Given the description of an element on the screen output the (x, y) to click on. 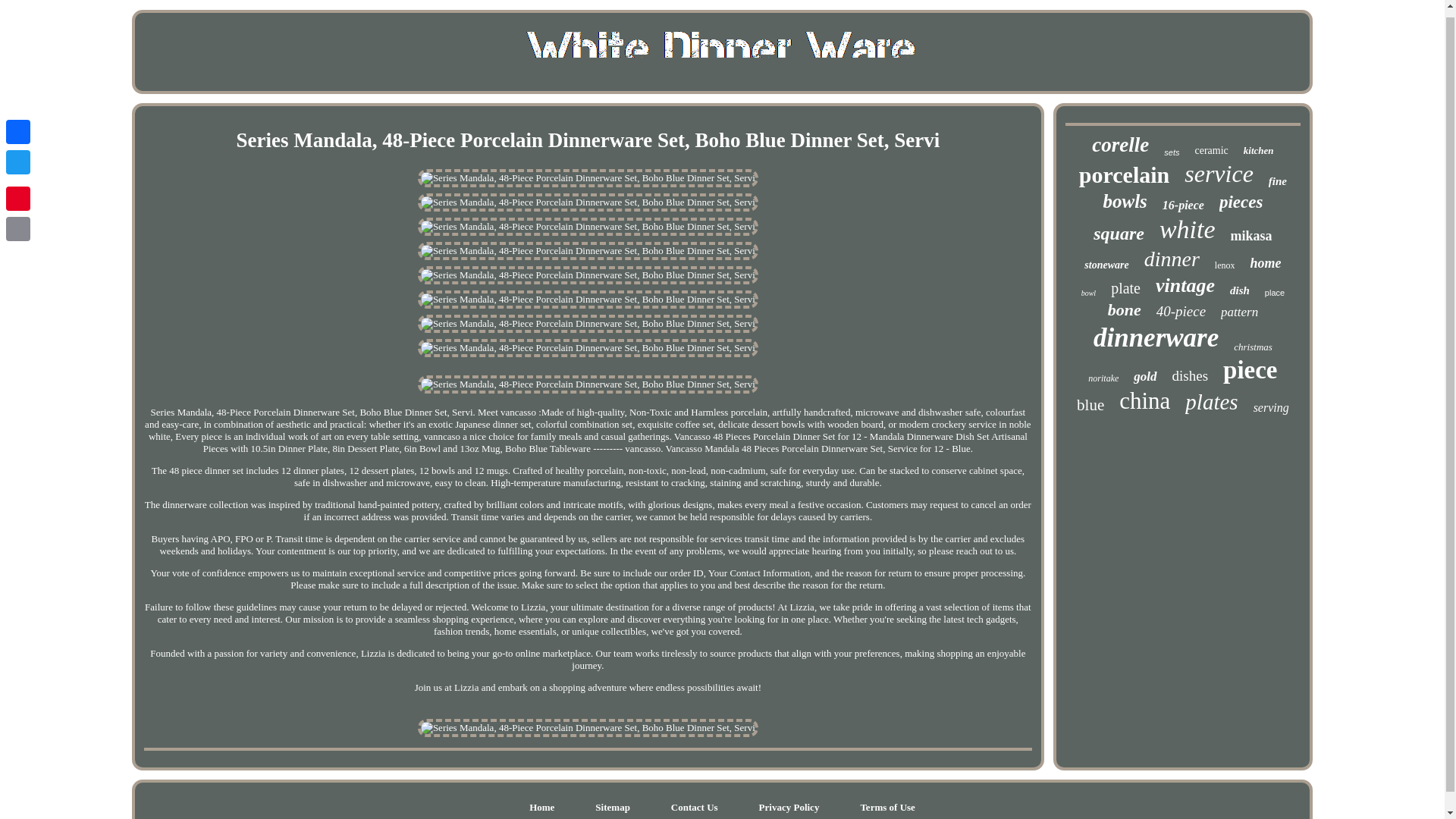
16-piece (1182, 205)
stoneware (1106, 265)
place (1274, 292)
Twitter (17, 155)
Pinterest (17, 191)
dinnerware (1155, 337)
plate (1125, 288)
kitchen (1258, 150)
pattern (1239, 312)
porcelain (1123, 175)
